Given the description of an element on the screen output the (x, y) to click on. 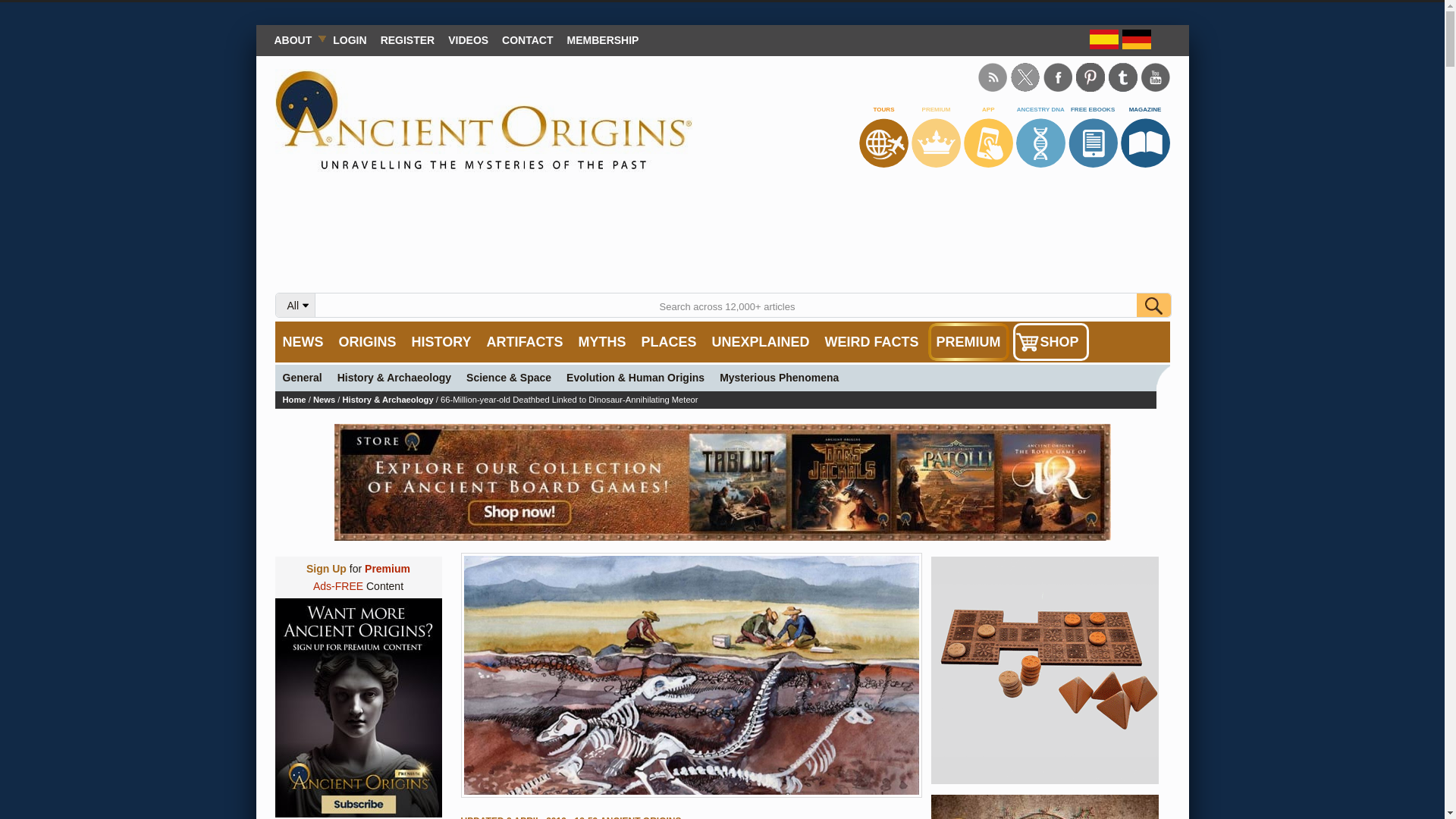
Login (349, 40)
REGISTER (408, 40)
Video Gallery (468, 40)
Our Mission (296, 40)
Contact us (526, 40)
CONTACT (526, 40)
MEMBERSHIP (603, 40)
Find (1152, 304)
Become a registered user (408, 40)
